Given the description of an element on the screen output the (x, y) to click on. 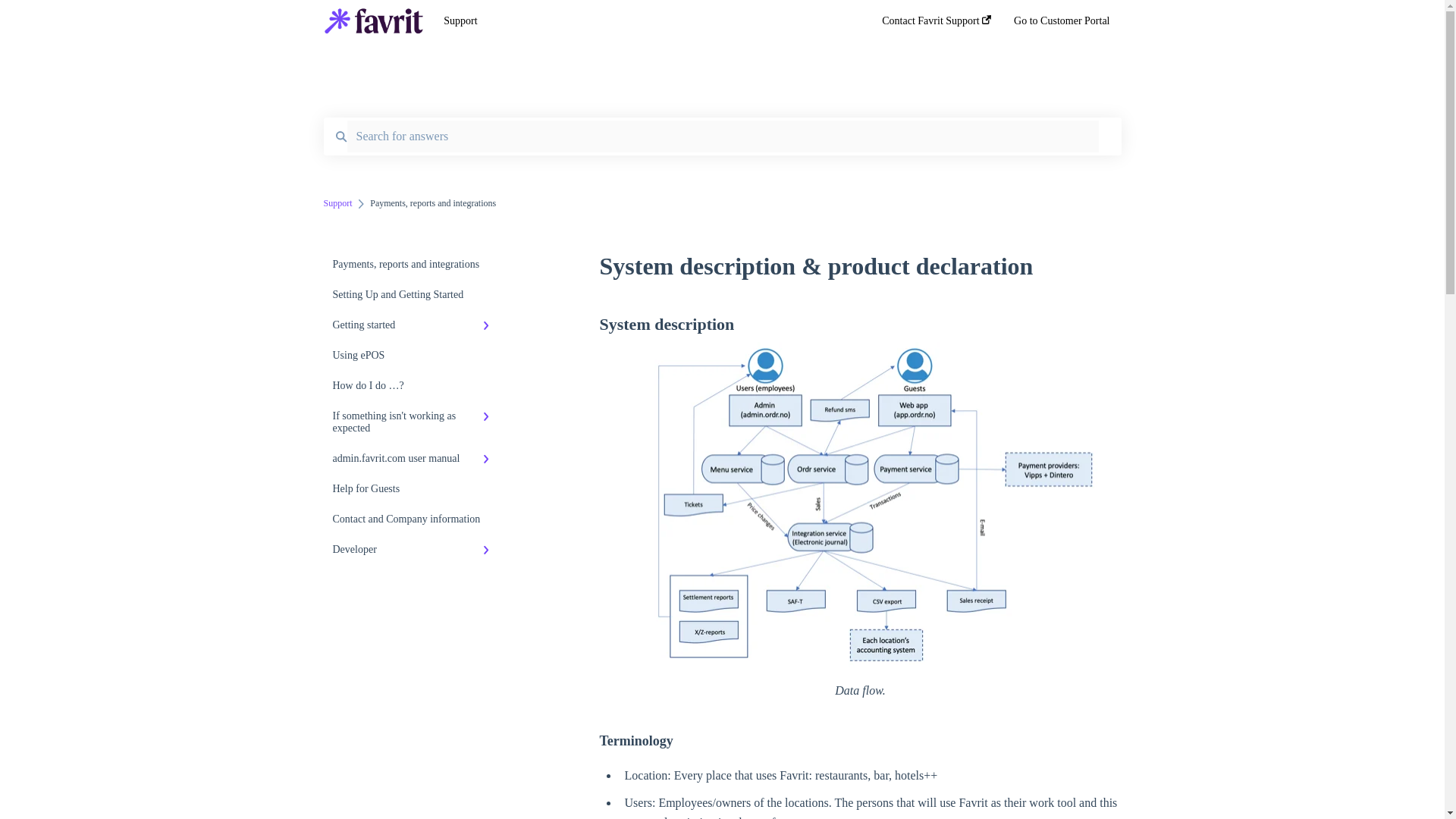
Support (337, 203)
Using ePOS (414, 355)
Setting Up and Getting Started (414, 295)
Support (639, 21)
Getting started (414, 325)
Go to Customer Portal (1061, 25)
Payments, reports and integrations (414, 264)
Contact Favrit Support (936, 25)
